Given the description of an element on the screen output the (x, y) to click on. 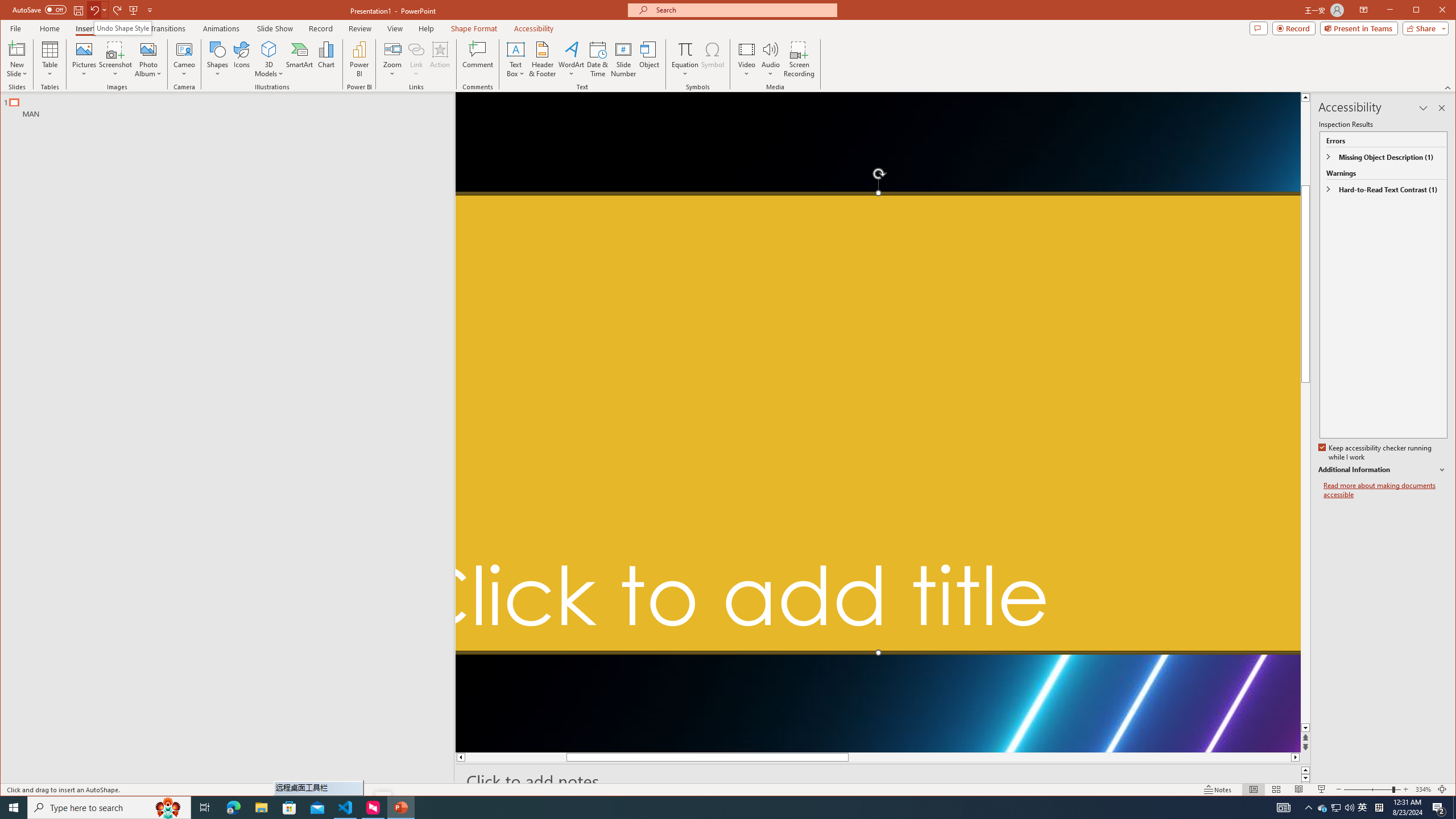
Zoom (1371, 789)
Neon laser lights aligned to form a triangle (877, 421)
Date & Time... (597, 59)
Slide Notes (882, 780)
Action Center, 2 new notifications (1439, 807)
User Promoted Notification Area (1336, 807)
Video (746, 59)
WordArt (571, 59)
SmartArt... (299, 59)
Animations (221, 28)
Page up (1305, 177)
Additional Information (1382, 469)
Redo (117, 9)
